Given the description of an element on the screen output the (x, y) to click on. 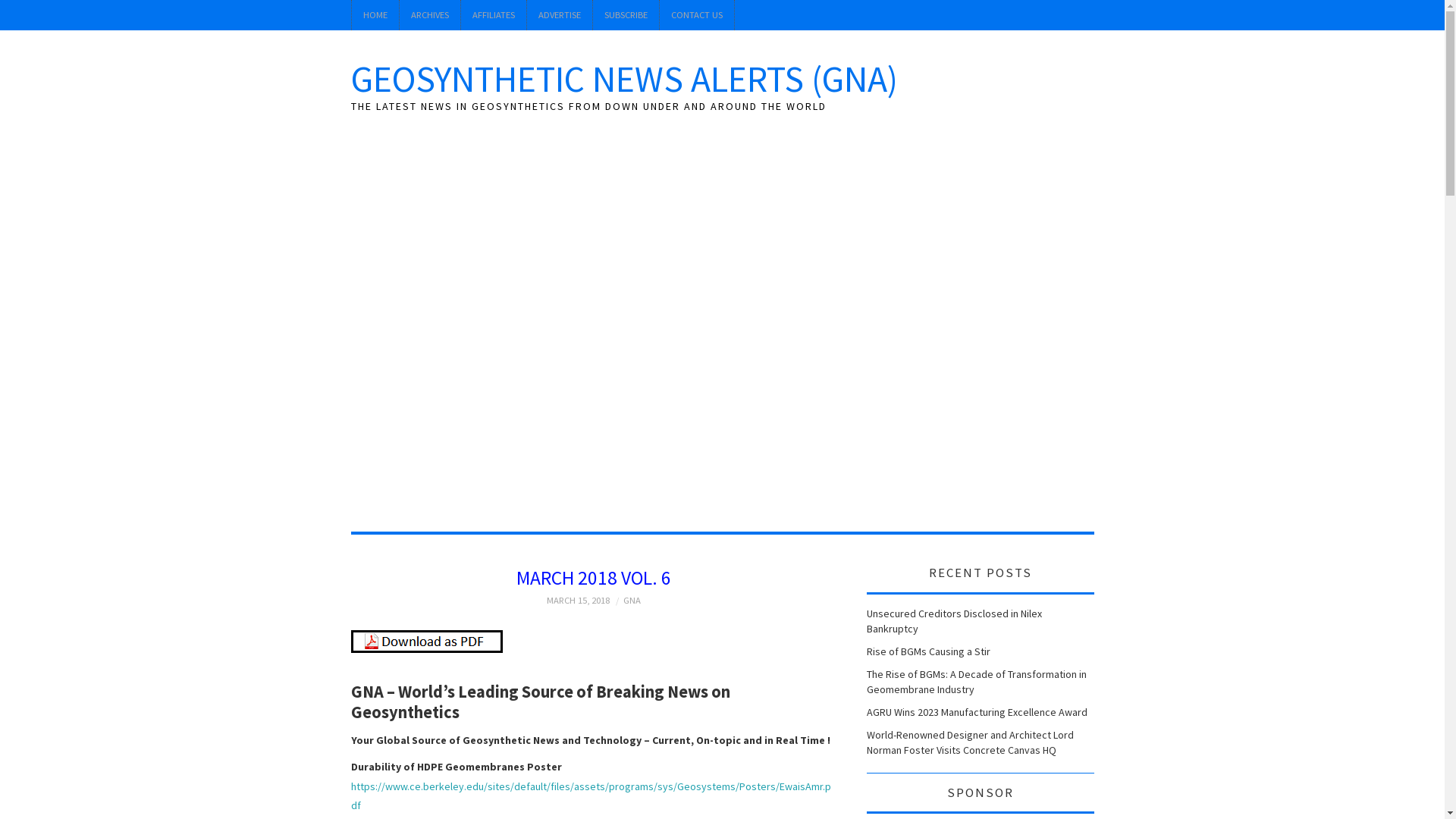
HOME Element type: text (374, 15)
ARCHIVES Element type: text (428, 15)
Unsecured Creditors Disclosed in Nilex Bankruptcy Element type: text (953, 620)
AGRU Wins 2023 Manufacturing Excellence Award Element type: text (976, 711)
Download PDF Element type: hover (426, 640)
GNA Element type: text (631, 599)
AFFILIATES Element type: text (493, 15)
GEOSYNTHETIC NEWS ALERTS (GNA) Element type: text (623, 78)
ADVERTISE Element type: text (558, 15)
MARCH 15, 2018 Element type: text (577, 599)
YouTube video player Element type: hover (721, 313)
CONTACT US Element type: text (696, 15)
Rise of BGMs Causing a Stir Element type: text (927, 651)
SUBSCRIBE Element type: text (625, 15)
